Given the description of an element on the screen output the (x, y) to click on. 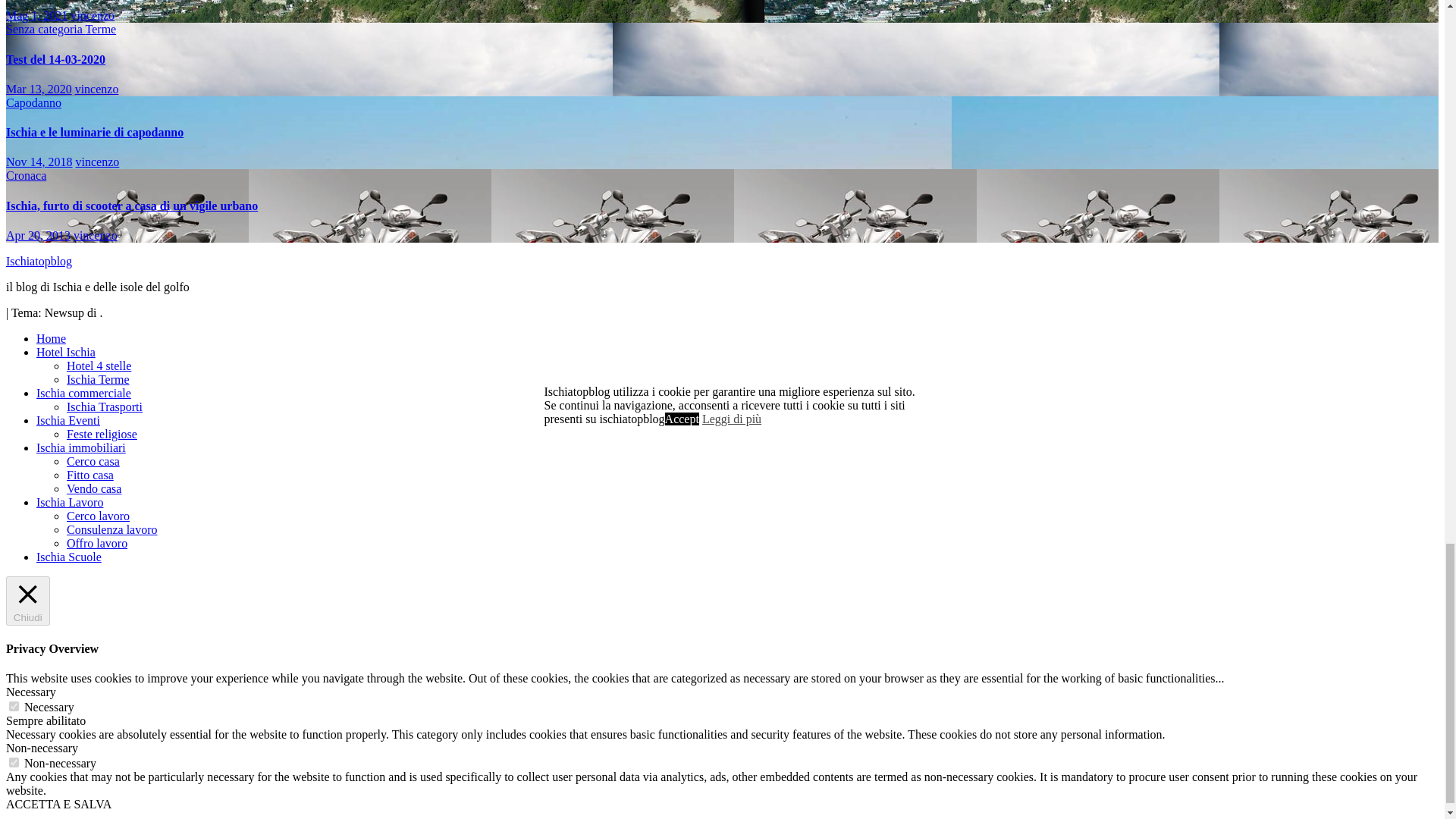
on (13, 706)
Home (50, 338)
on (13, 762)
Permalink to: Test del 14-03-2020 (54, 59)
Permalink to: Ischia e le luminarie di capodanno (94, 132)
